Given the description of an element on the screen output the (x, y) to click on. 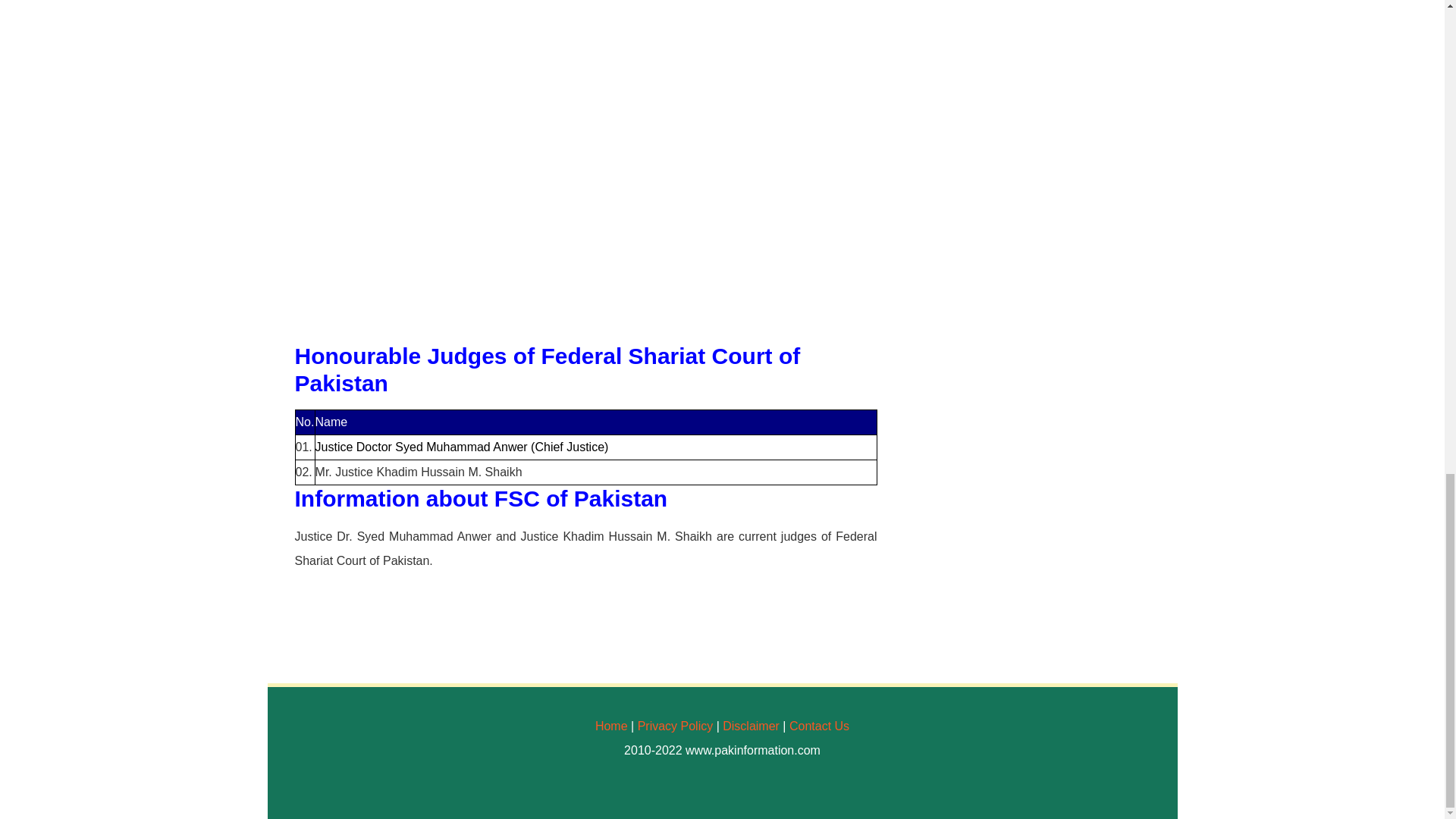
Privacy Policy (675, 725)
Disclaimer (750, 725)
Contact With Pakinformation.com Team (818, 725)
Contact Us (818, 725)
Advertisement (585, 199)
Home (611, 725)
Chief Justice of Supreme Court (423, 446)
Justice Doctor Syed Muhammad Anwer (423, 446)
Home Page (611, 725)
Privacy Policy of Pakinformation (675, 725)
Disclaimer (750, 725)
